Given the description of an element on the screen output the (x, y) to click on. 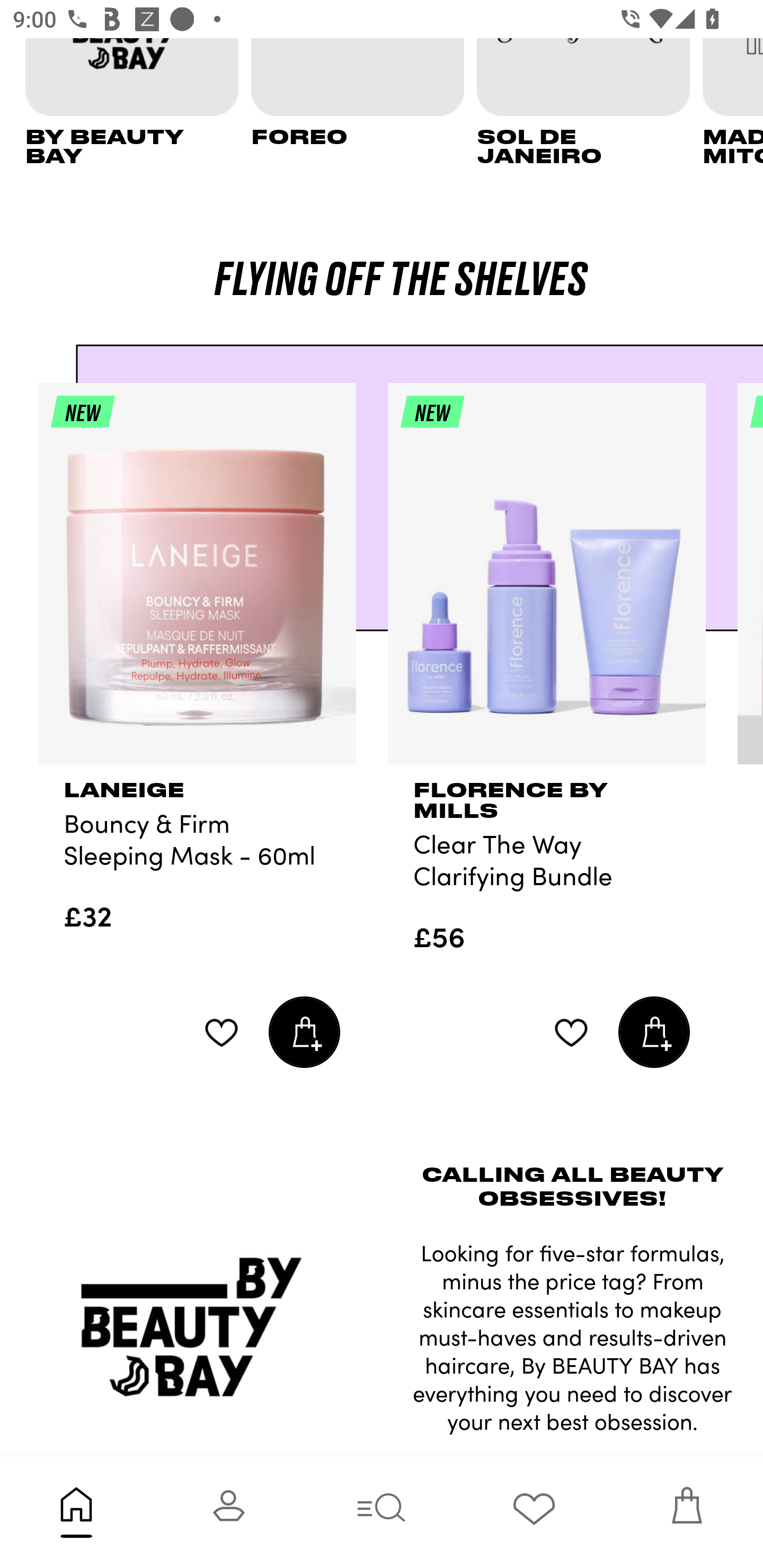
NEW (197, 581)
NEW (546, 581)
LANEIGE Bouncy & Firm Sleeping Mask - 60ml £32 (197, 863)
